Given the description of an element on the screen output the (x, y) to click on. 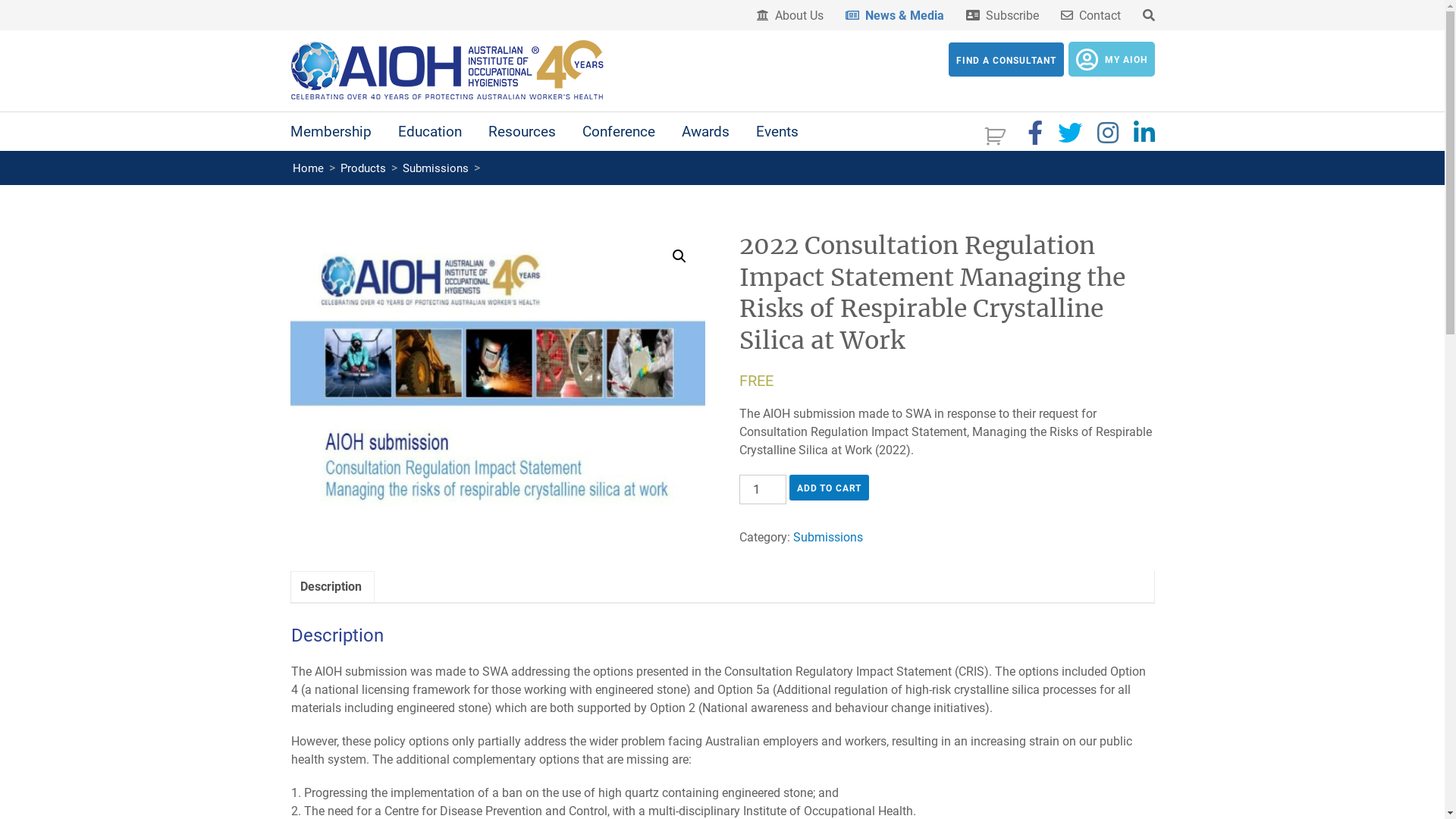
Resources Element type: text (521, 131)
Conference Element type: text (618, 131)
View your shopping cart Element type: hover (996, 133)
MY AIOH Element type: text (1110, 58)
Description Element type: text (330, 586)
  Subscribe Element type: text (1002, 15)
  News & Media Element type: text (893, 15)
Submissions Element type: text (827, 537)
FIND A CONSULTANT Element type: text (1005, 59)
  Contact Element type: text (1090, 15)
Membership Element type: text (329, 131)
Awards Element type: text (704, 131)
ADD TO CART Element type: text (829, 487)
  About Us Element type: text (789, 15)
Submissions Element type: text (435, 168)
Home Element type: text (307, 168)
AIOH-Submission-SWA-RIS V7 Element type: hover (496, 375)
Education Element type: text (429, 131)
Events Element type: text (776, 131)
Products Element type: text (363, 168)
